Given the description of an element on the screen output the (x, y) to click on. 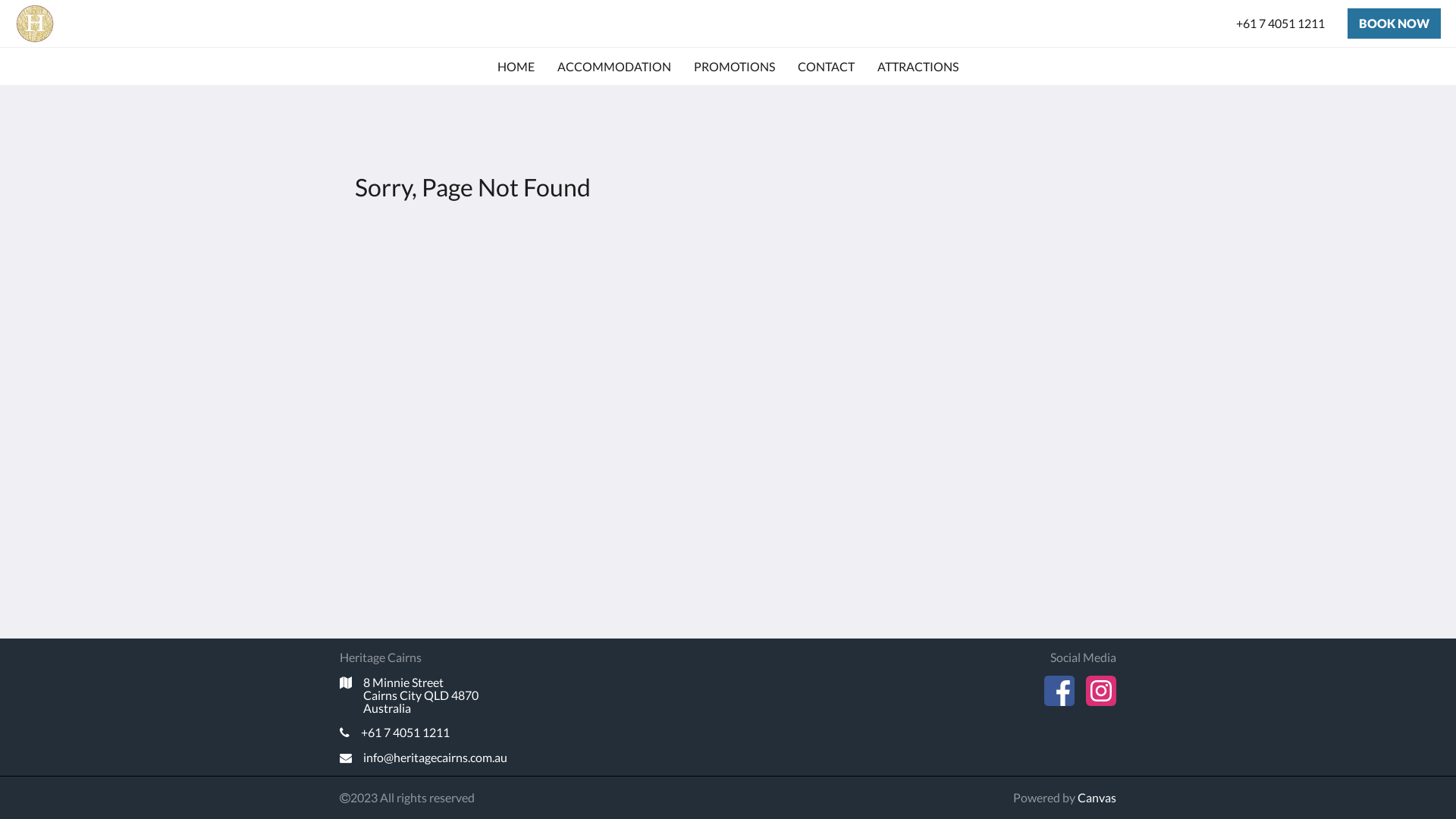
BOOK NOW Element type: text (1393, 23)
HOME Element type: text (515, 66)
info@heritagecairns.com.au Element type: text (463, 757)
PROMOTIONS Element type: text (734, 66)
ACCOMMODATION Element type: text (614, 66)
CONTACT Element type: text (825, 66)
+61 7 4051 1211 Element type: text (1280, 23)
Canvas Element type: text (1096, 797)
ATTRACTIONS Element type: text (917, 66)
+61 7 4051 1211 Element type: text (463, 732)
8 Minnie Street
Cairns City QLD 4870
Australia Element type: text (463, 694)
